Given the description of an element on the screen output the (x, y) to click on. 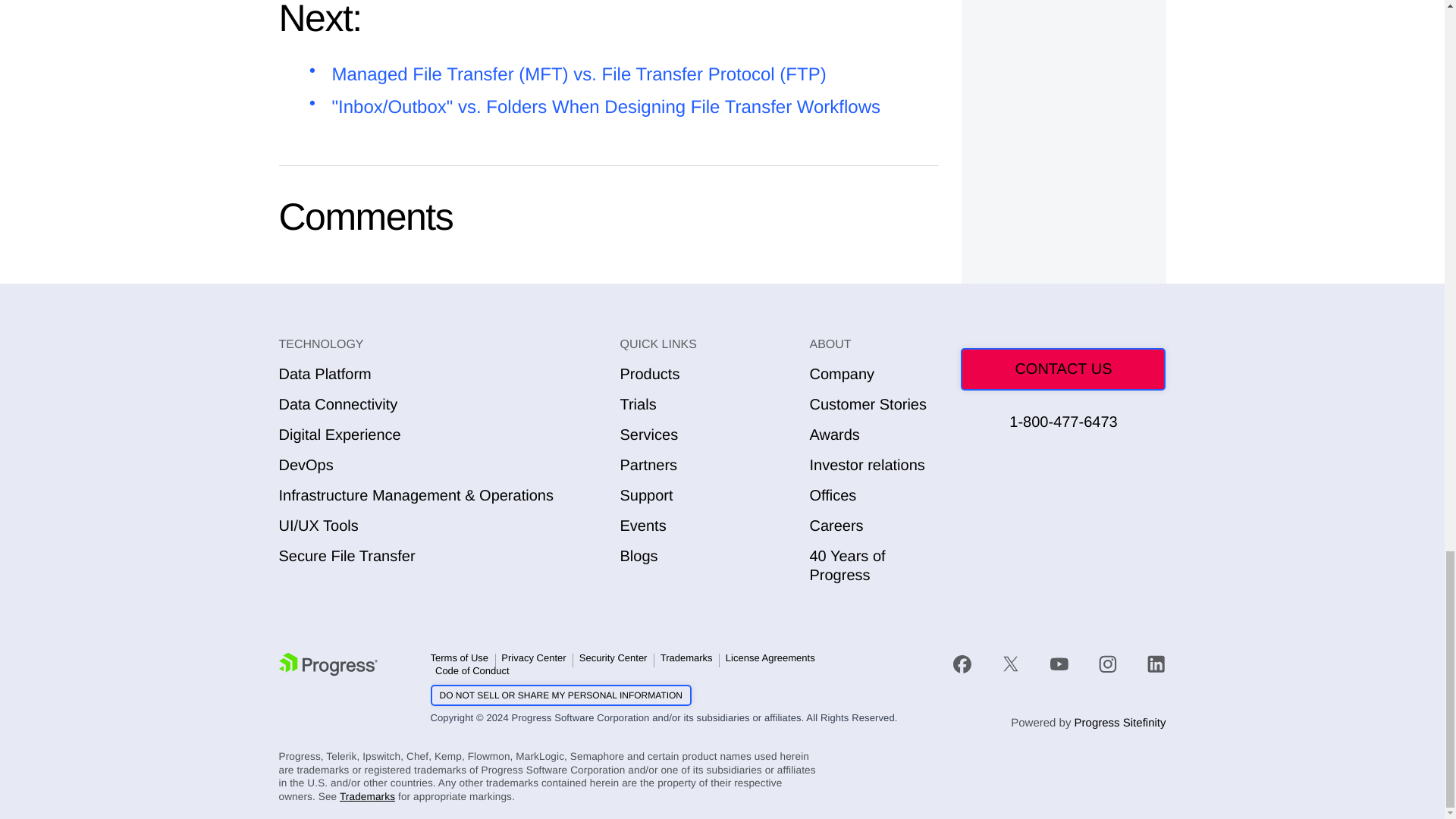
facebook (970, 662)
LinkedIn (1156, 664)
youtube (1059, 662)
Facebook (962, 664)
X (1010, 664)
Instagram (1107, 664)
Progress (328, 663)
instagram (1107, 662)
linkedin (1149, 662)
YouTube (1058, 664)
